Given the description of an element on the screen output the (x, y) to click on. 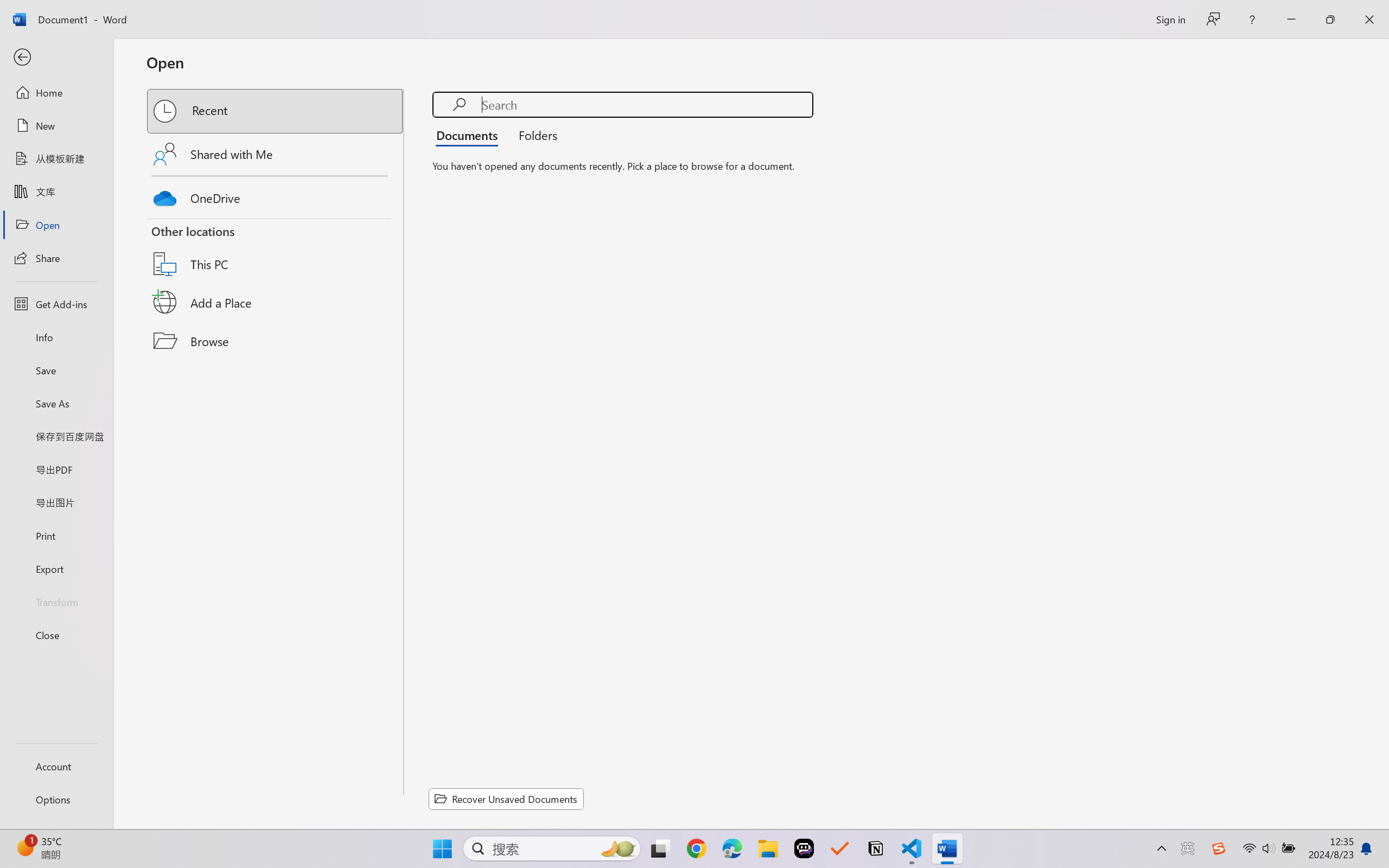
Documents (469, 134)
New (56, 125)
Get Add-ins (56, 303)
Save As (56, 403)
